Given the description of an element on the screen output the (x, y) to click on. 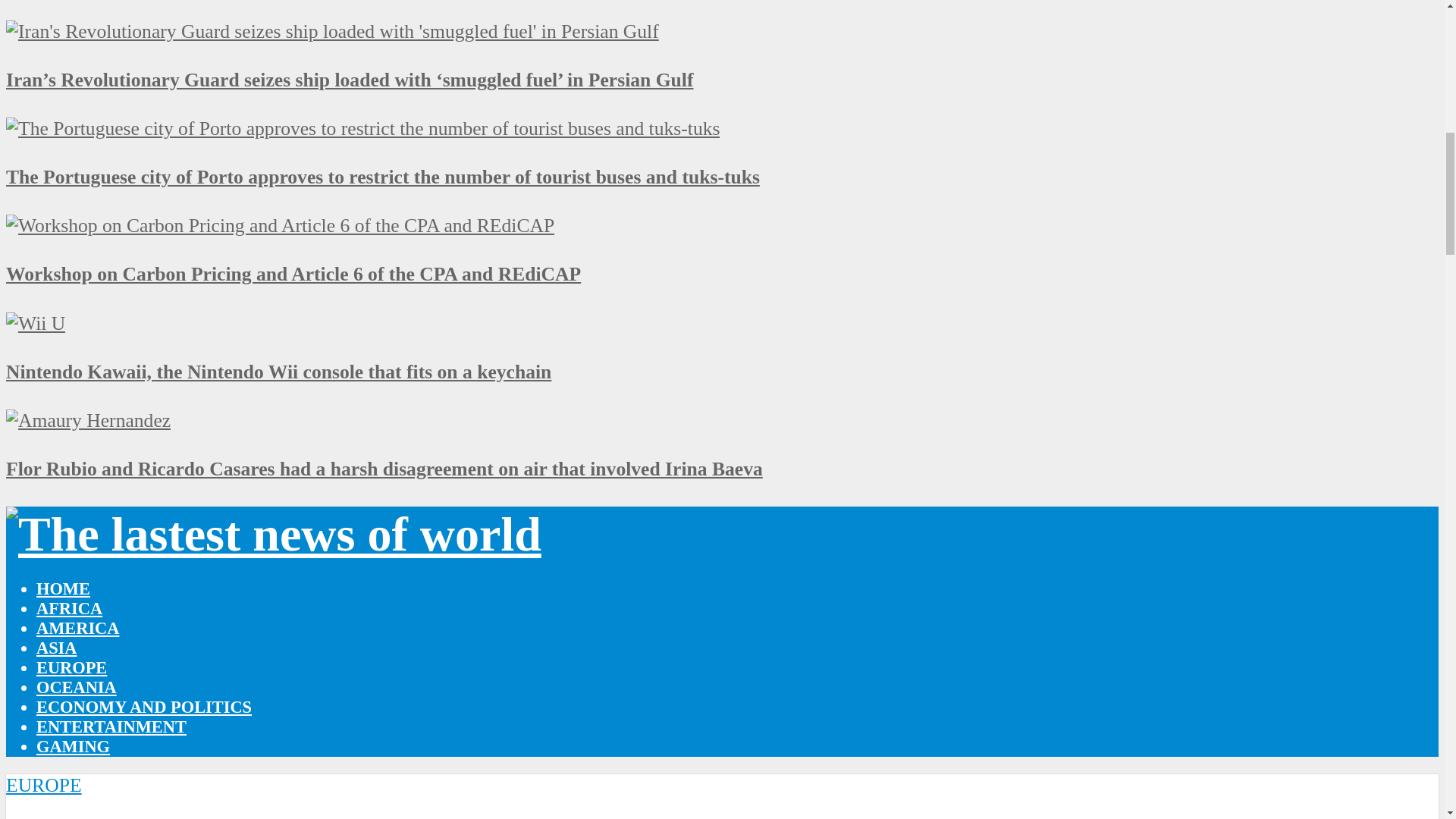
ECONOMY AND POLITICS (143, 706)
OCEANIA (76, 687)
AMERICA (77, 628)
AFRICA (68, 608)
HOME (63, 588)
ENTERTAINMENT (111, 726)
EUROPE (71, 667)
ASIA (56, 647)
